Given the description of an element on the screen output the (x, y) to click on. 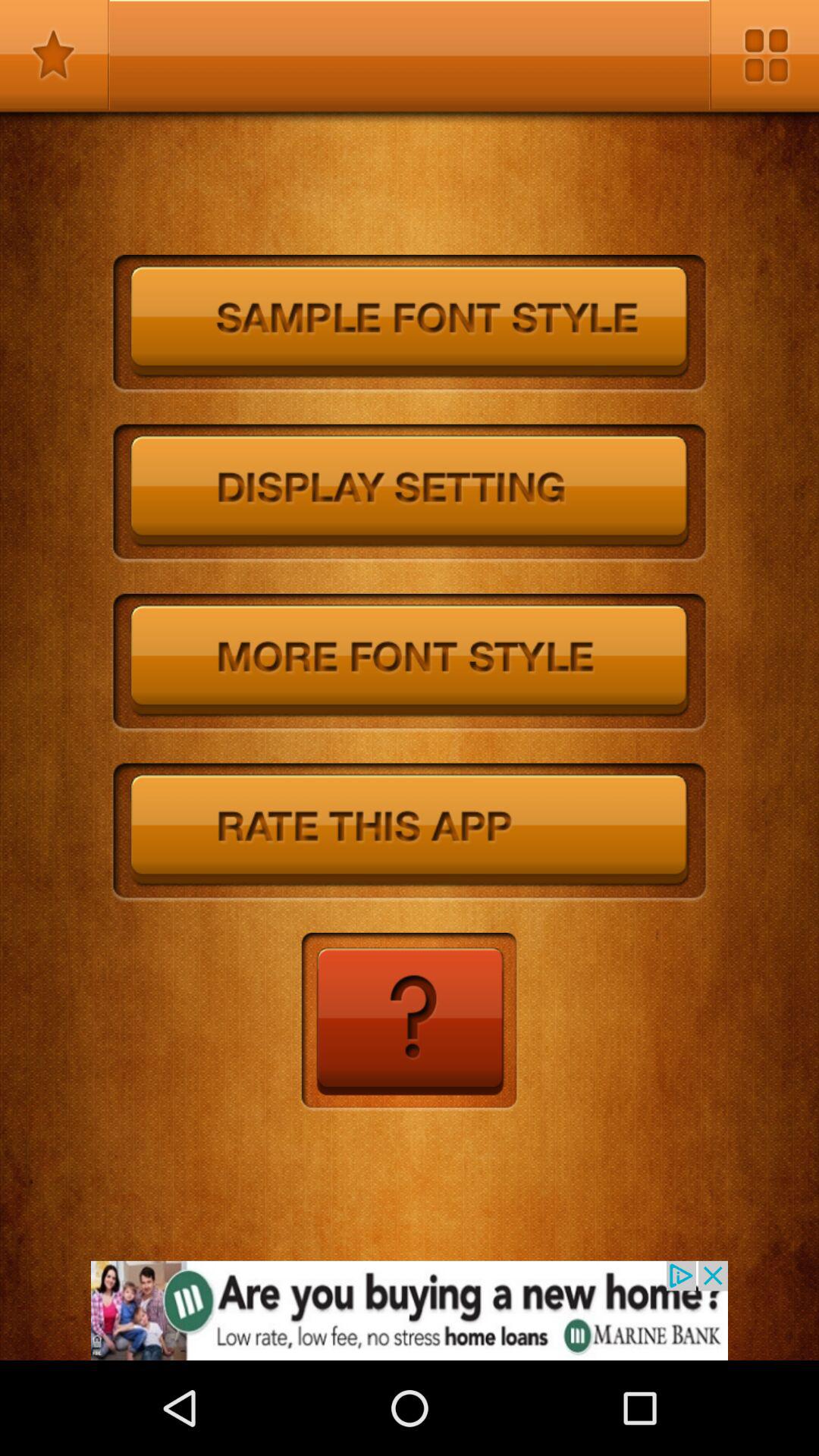
add to favorites (54, 54)
